Given the description of an element on the screen output the (x, y) to click on. 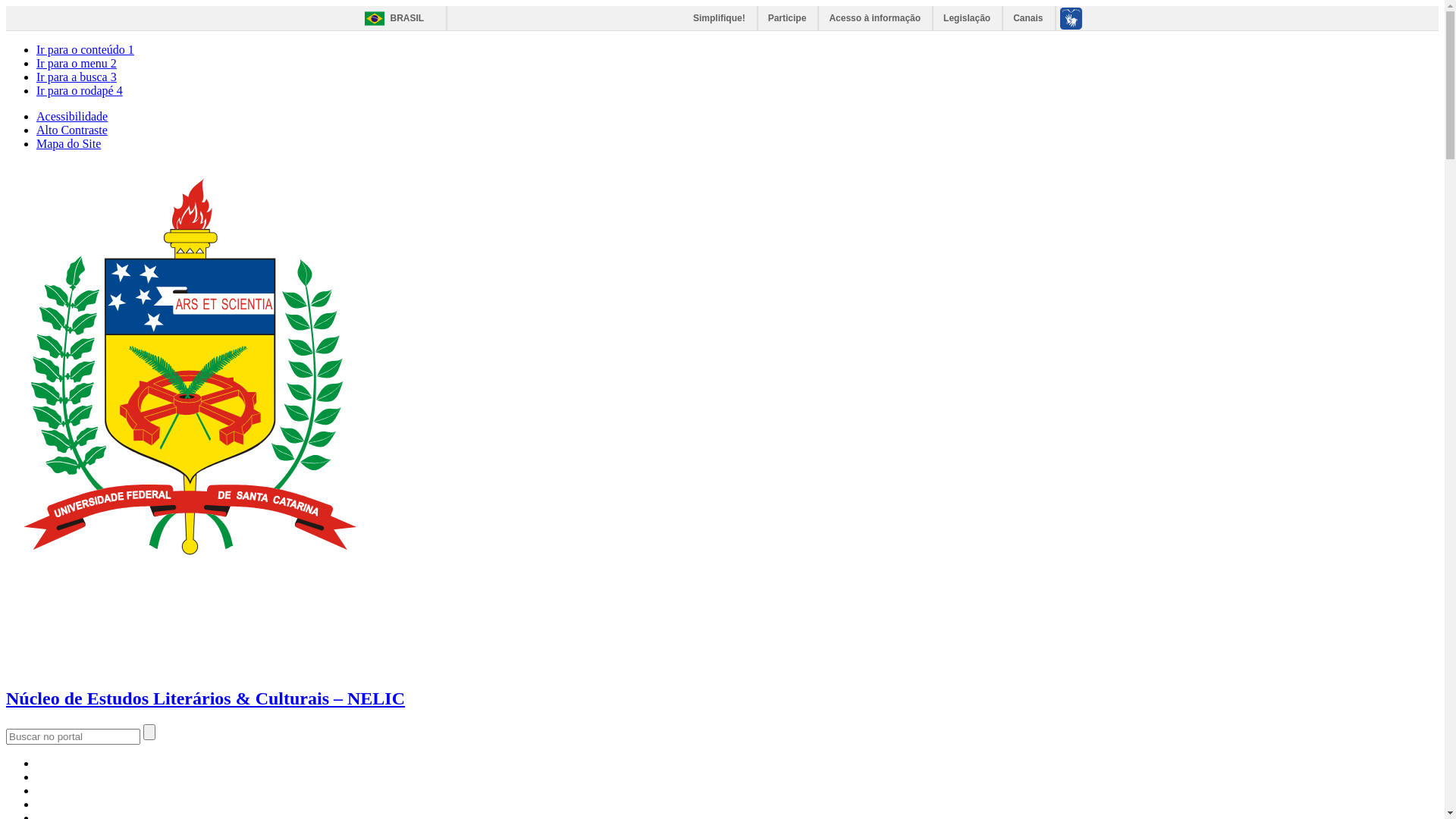
Simplifique! Element type: text (719, 17)
Canais Element type: text (1028, 17)
Mapa do Site Element type: text (68, 143)
Acessibilidade Element type: text (71, 115)
Ir para o menu 2 Element type: text (76, 62)
Alto Contraste Element type: text (71, 129)
Ir para a busca 3 Element type: text (76, 76)
Participe Element type: text (788, 17)
BRASIL Element type: text (389, 18)
